Given the description of an element on the screen output the (x, y) to click on. 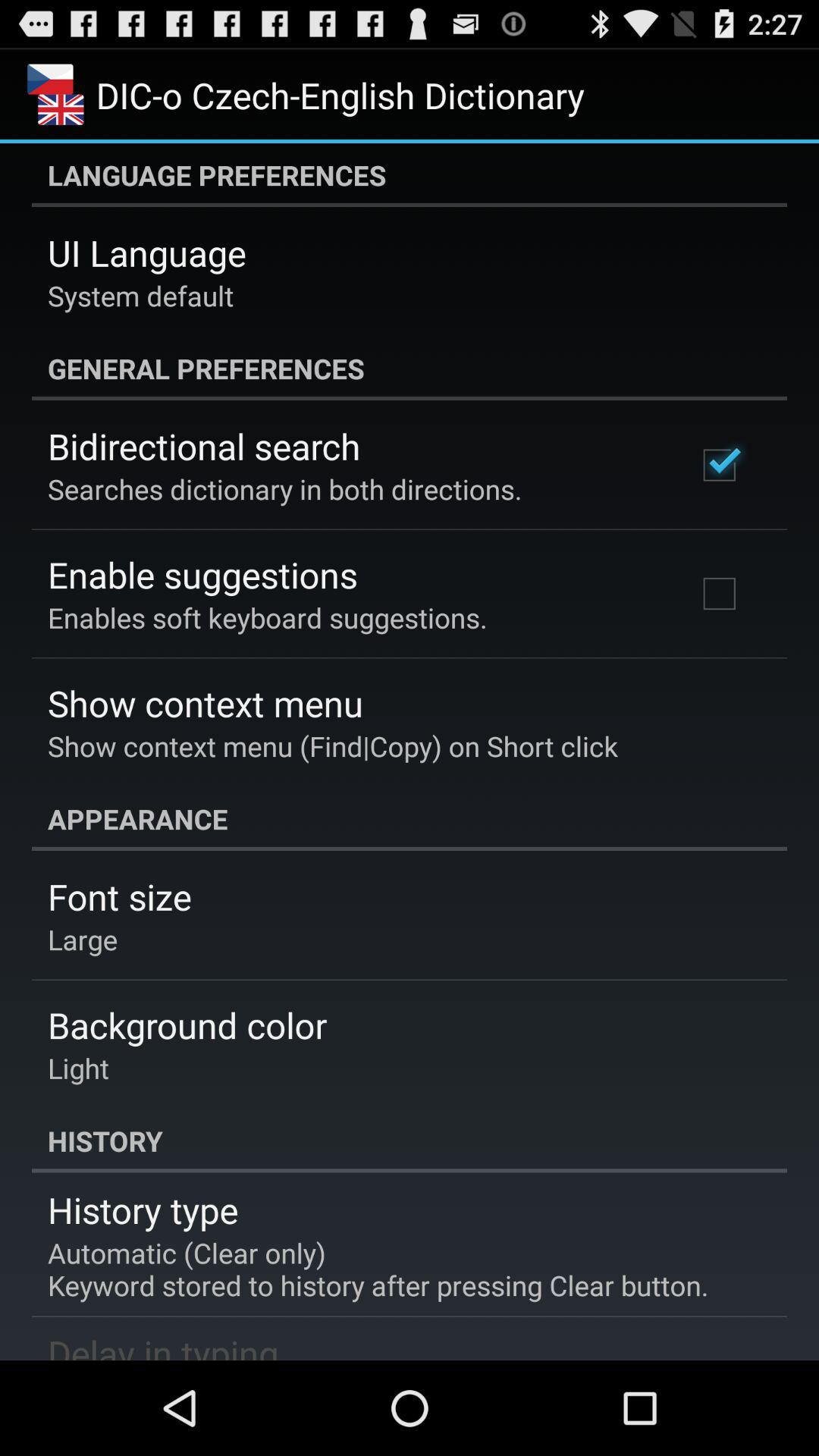
launch the app below show context menu app (409, 818)
